Given the description of an element on the screen output the (x, y) to click on. 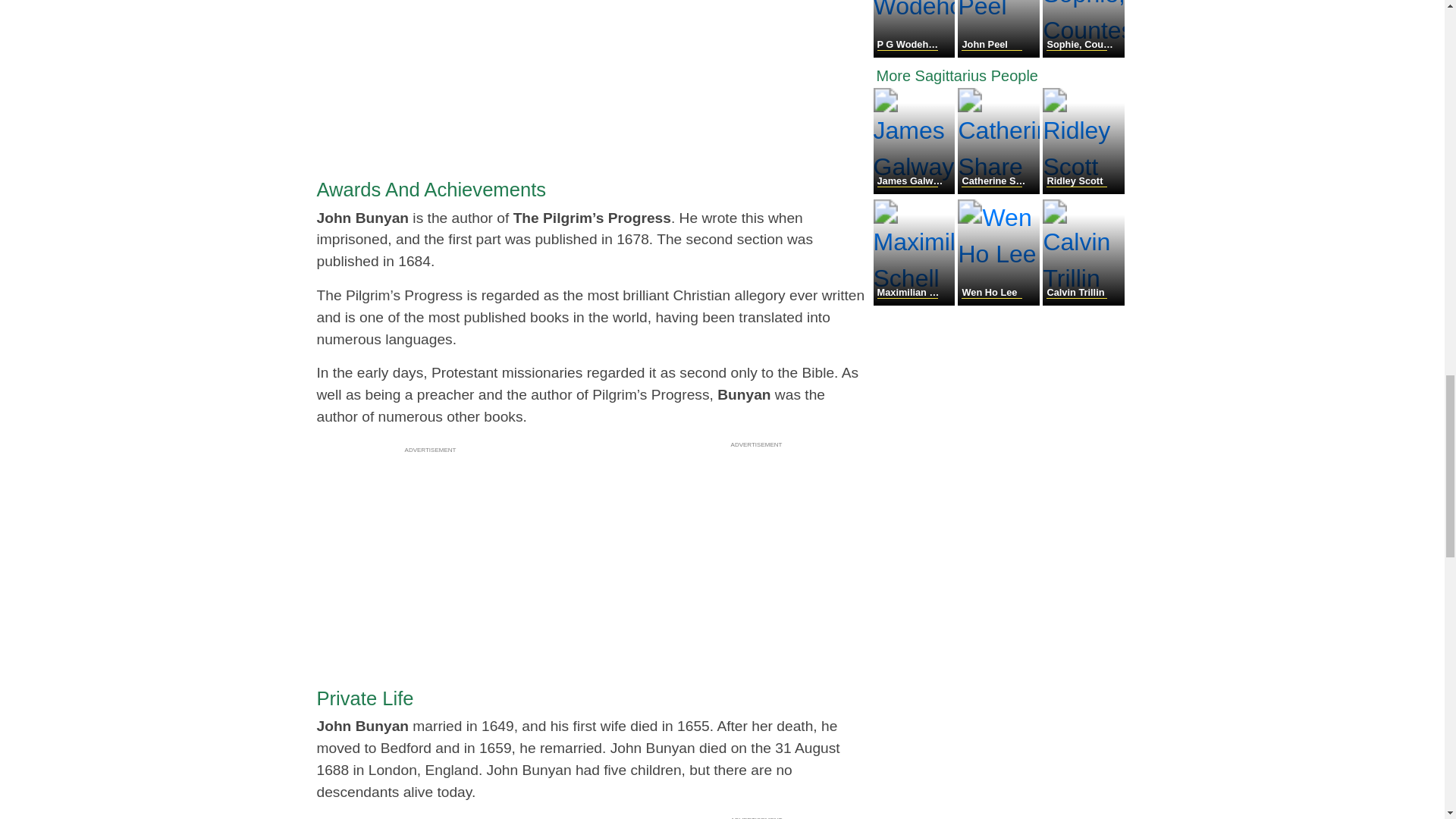
John Peel (1000, 52)
P G Wodehouse (915, 52)
Sophie, Countess of Wessex (1083, 52)
